Given the description of an element on the screen output the (x, y) to click on. 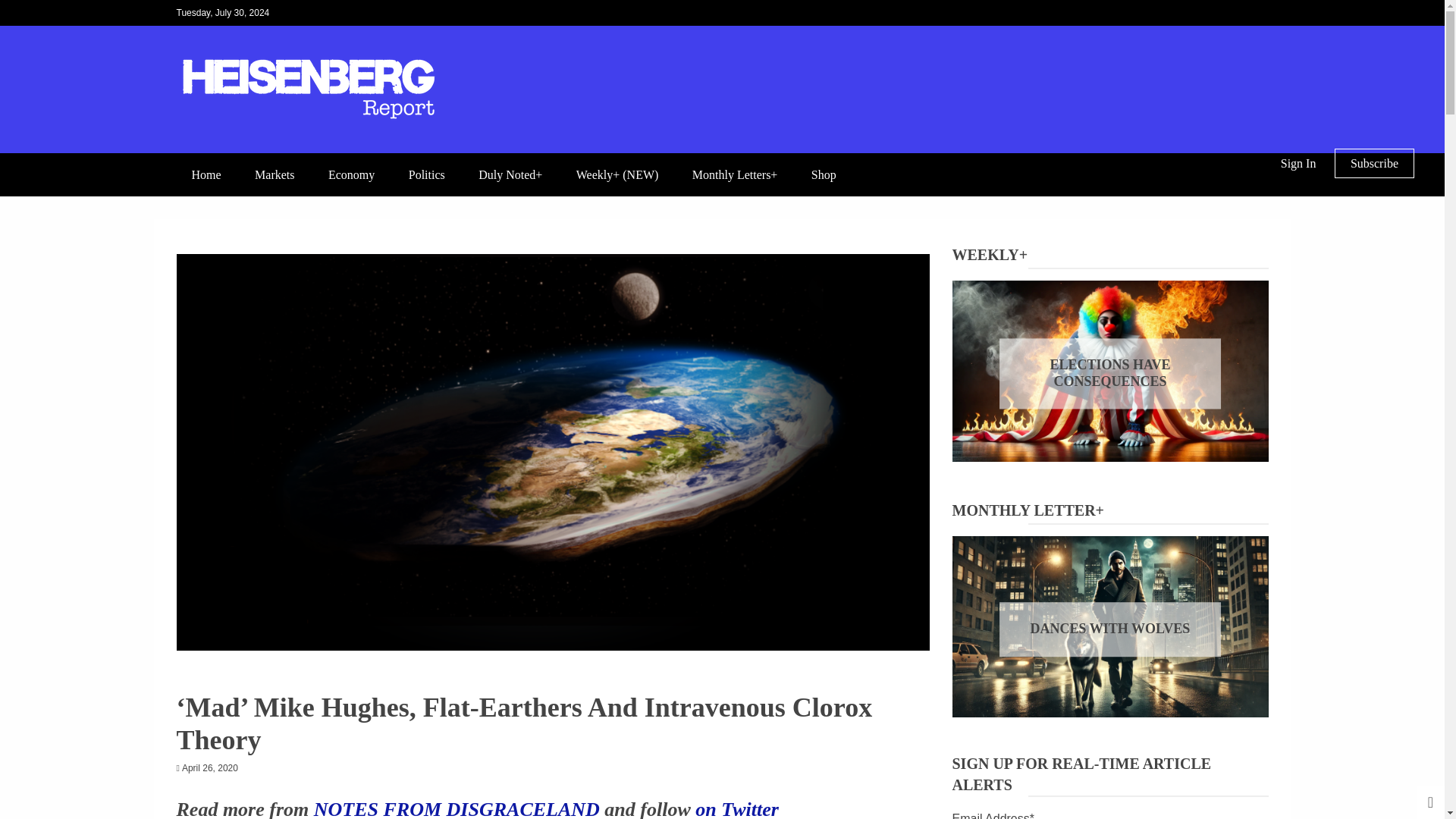
on Twitter (736, 808)
HEISENBERG REPORT (351, 151)
Notes From Disgraceland (208, 709)
Subscribe (1374, 163)
Shop (823, 174)
Home (205, 174)
ELECTIONS HAVE CONSEQUENCES (1109, 373)
Monthly Letter (1131, 633)
April 26, 2020 (210, 767)
Markets (274, 174)
Sign In (1298, 163)
Economy (351, 174)
NOTES FROM DISGRACELAND (456, 808)
Politics (426, 174)
